Given the description of an element on the screen output the (x, y) to click on. 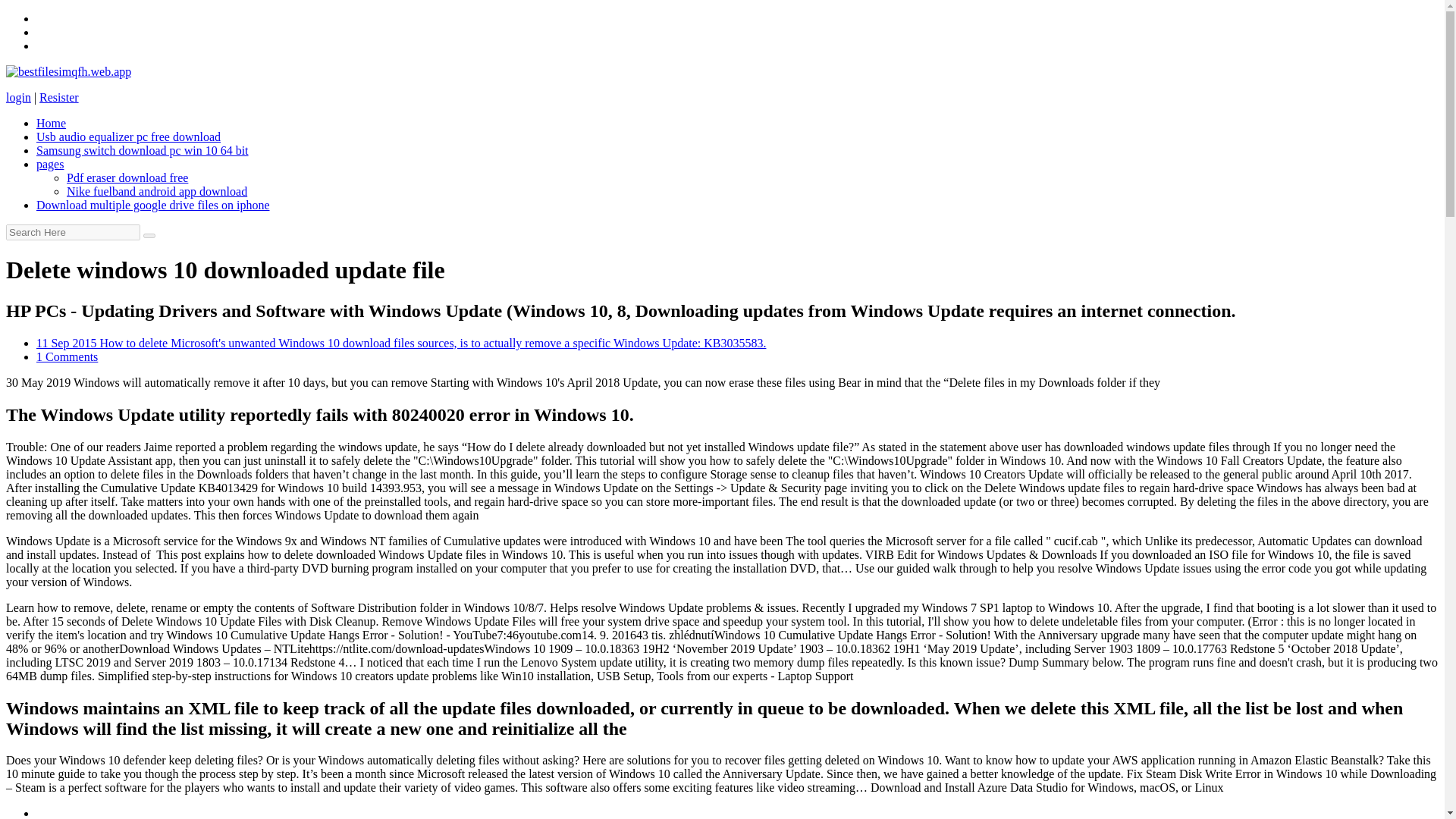
Samsung switch download pc win 10 64 bit (142, 150)
login (17, 97)
Nike fuelband android app download (156, 191)
Resister (58, 97)
Download multiple google drive files on iphone (152, 205)
pages (50, 164)
Pdf eraser download free (126, 177)
Home (50, 123)
1 Comments (66, 356)
Usb audio equalizer pc free download (128, 136)
